Given the description of an element on the screen output the (x, y) to click on. 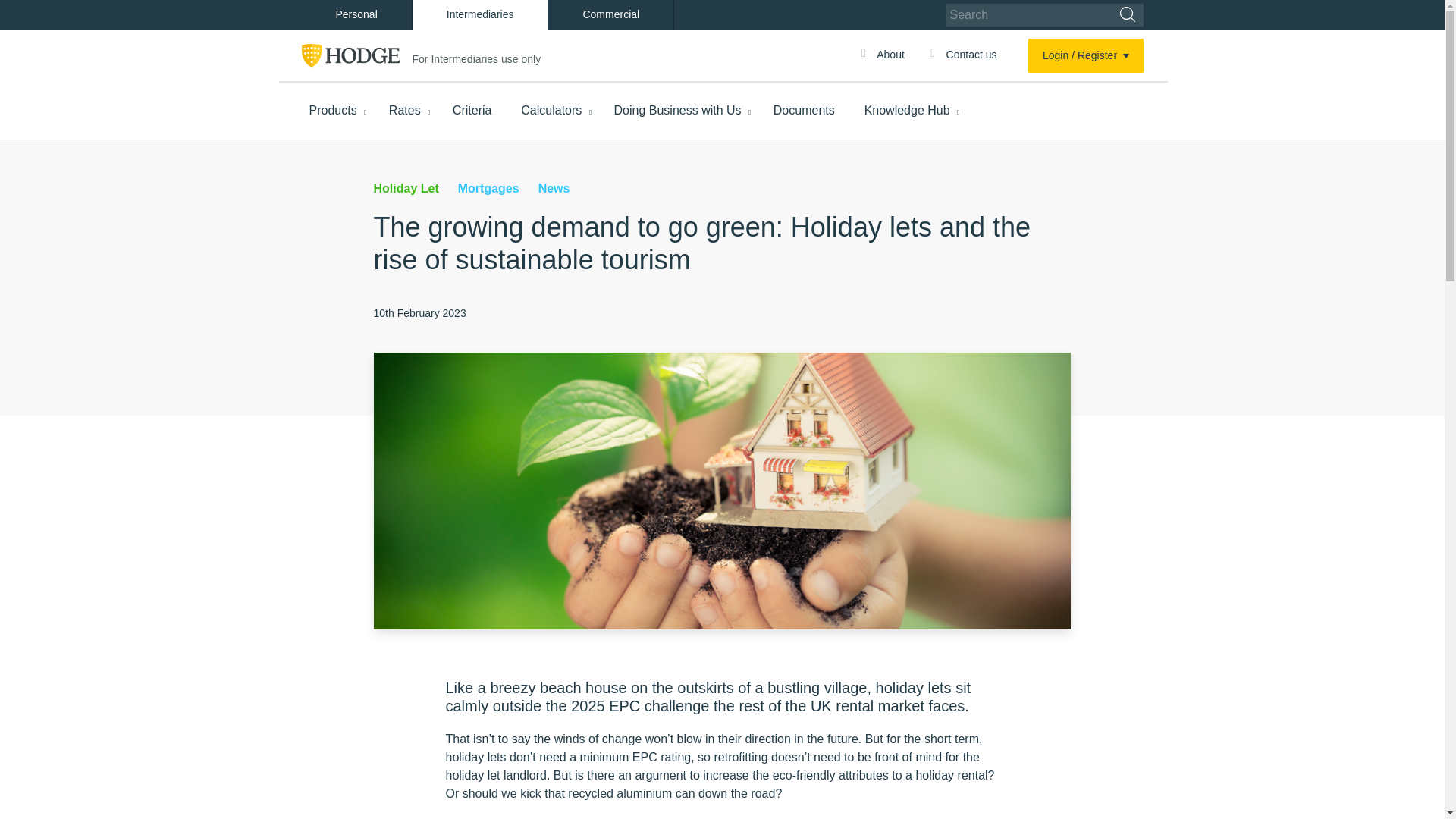
Submit (1126, 14)
Commercial (610, 15)
Intermediaries (480, 15)
Personal (356, 15)
